Given the description of an element on the screen output the (x, y) to click on. 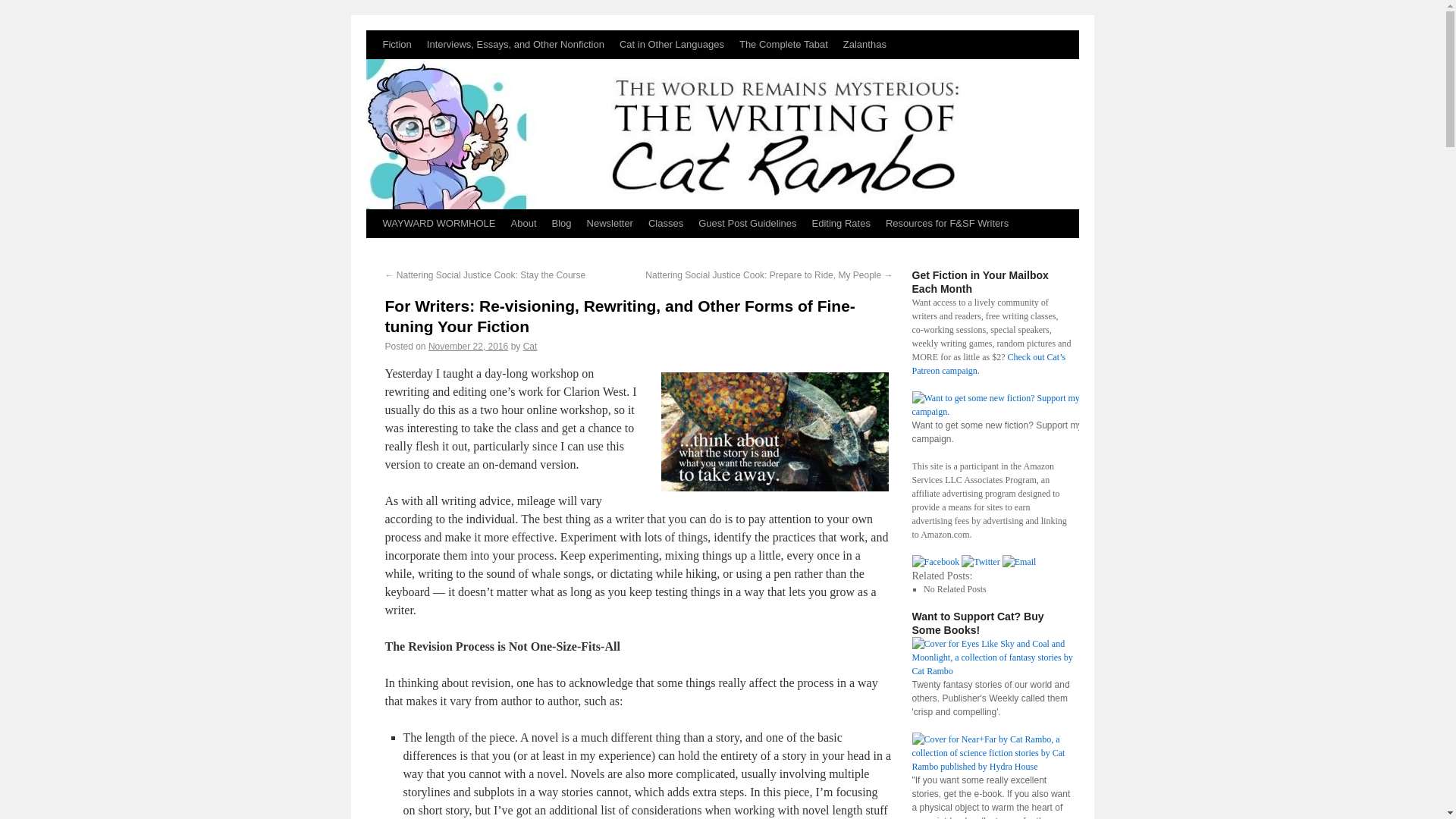
In Translation (671, 44)
WAYWARD WORMHOLE (438, 223)
Interviews, Essays, and Other Nonfiction (515, 44)
Cat (529, 346)
Classes (665, 223)
Blog (561, 223)
This is the blog (561, 223)
The Complete Tabat (783, 44)
10:55 am (468, 346)
About (523, 223)
View all posts by Cat (529, 346)
Fiction (396, 44)
The World Remains Mysterious (721, 119)
ArmageddonMUD (864, 44)
Zalanthas (864, 44)
